Given the description of an element on the screen output the (x, y) to click on. 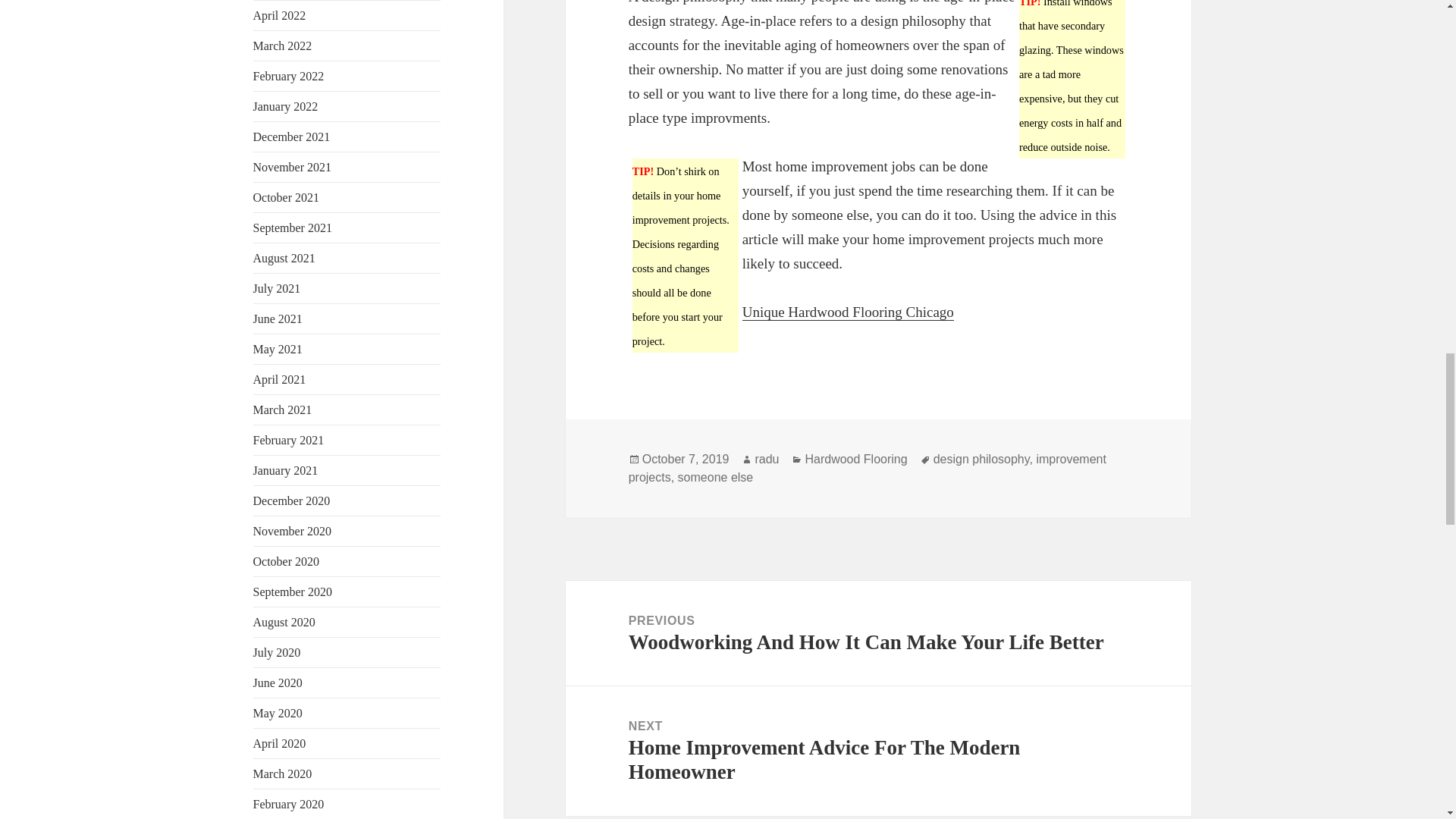
April 2022 (279, 15)
March 2022 (283, 45)
Unique Hardwood Flooring Chicago Dustless Sanding (847, 312)
